Given the description of an element on the screen output the (x, y) to click on. 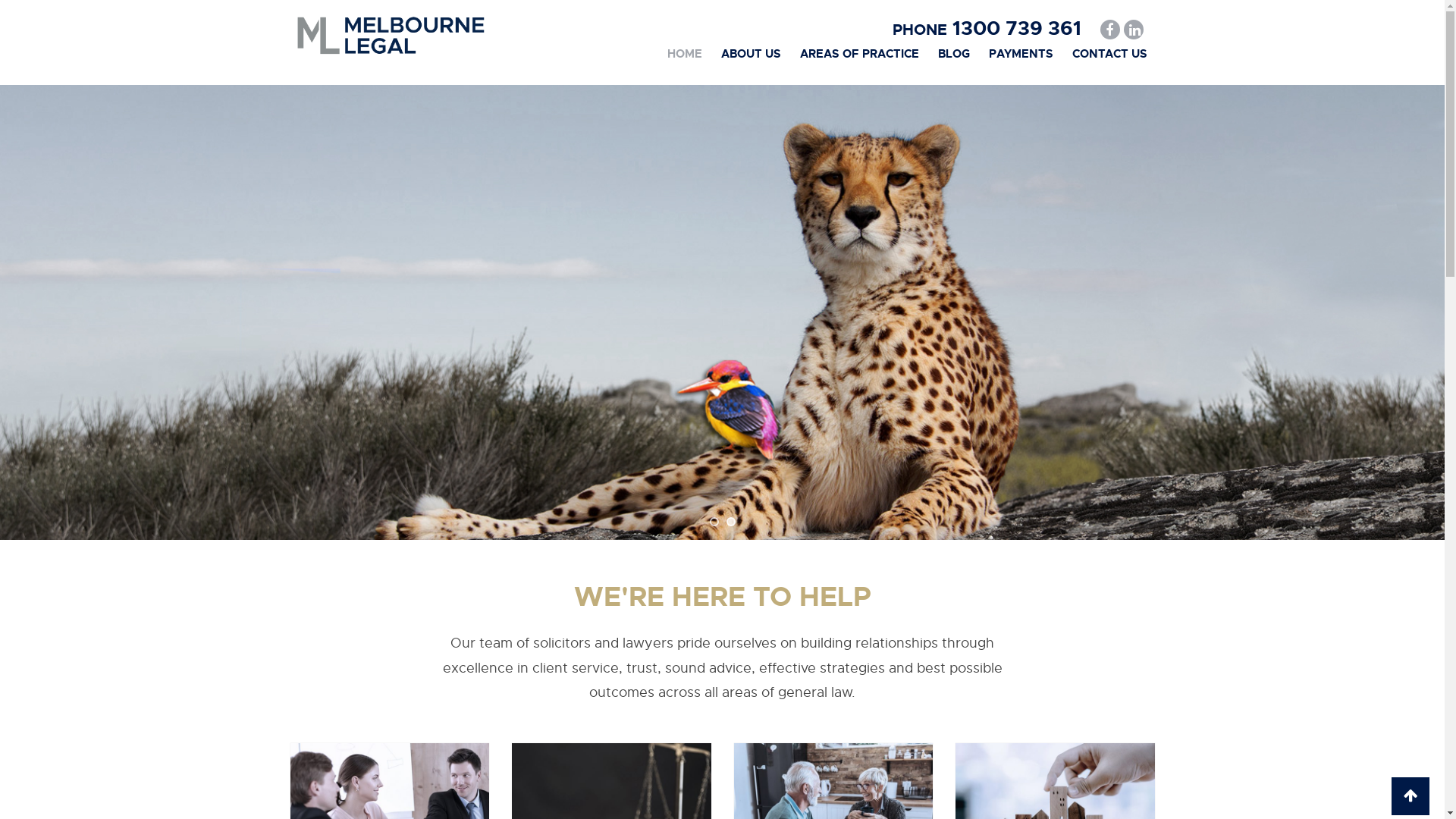
1300 739 361 Element type: text (1013, 27)
CONTACT US Element type: text (1109, 53)
AREAS OF PRACTICE Element type: text (858, 53)
DOWNLOAD NOW Element type: text (402, 399)
ABOUT US Element type: text (750, 53)
PAYMENTS Element type: text (1020, 53)
HOME Element type: text (684, 53)
BLOG Element type: text (953, 53)
